Given the description of an element on the screen output the (x, y) to click on. 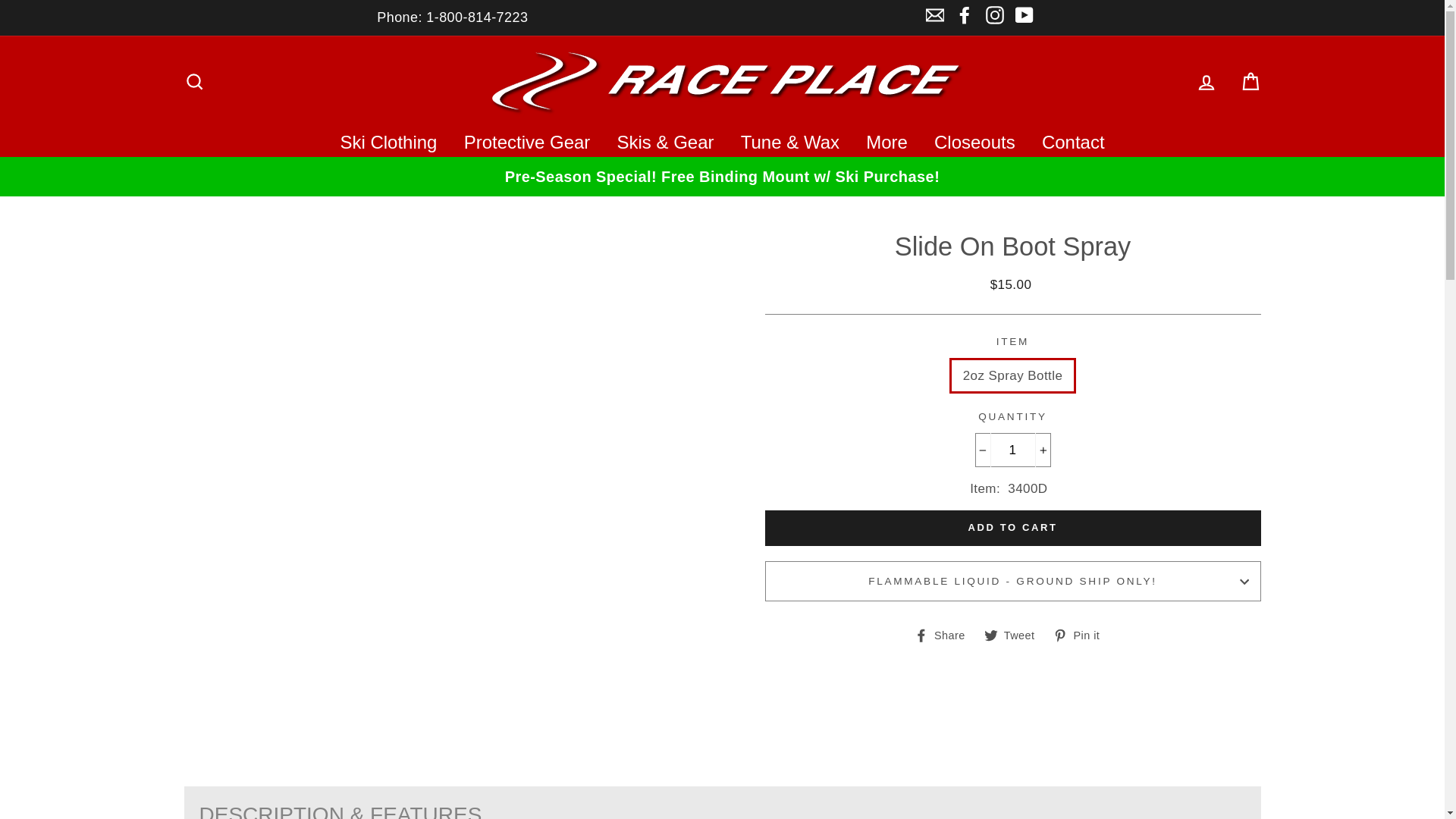
Back to the frontpage (199, 189)
Tweet on Twitter (1015, 634)
1 (1013, 449)
Pin on Pinterest (1081, 634)
Share on Facebook (945, 634)
